Given the description of an element on the screen output the (x, y) to click on. 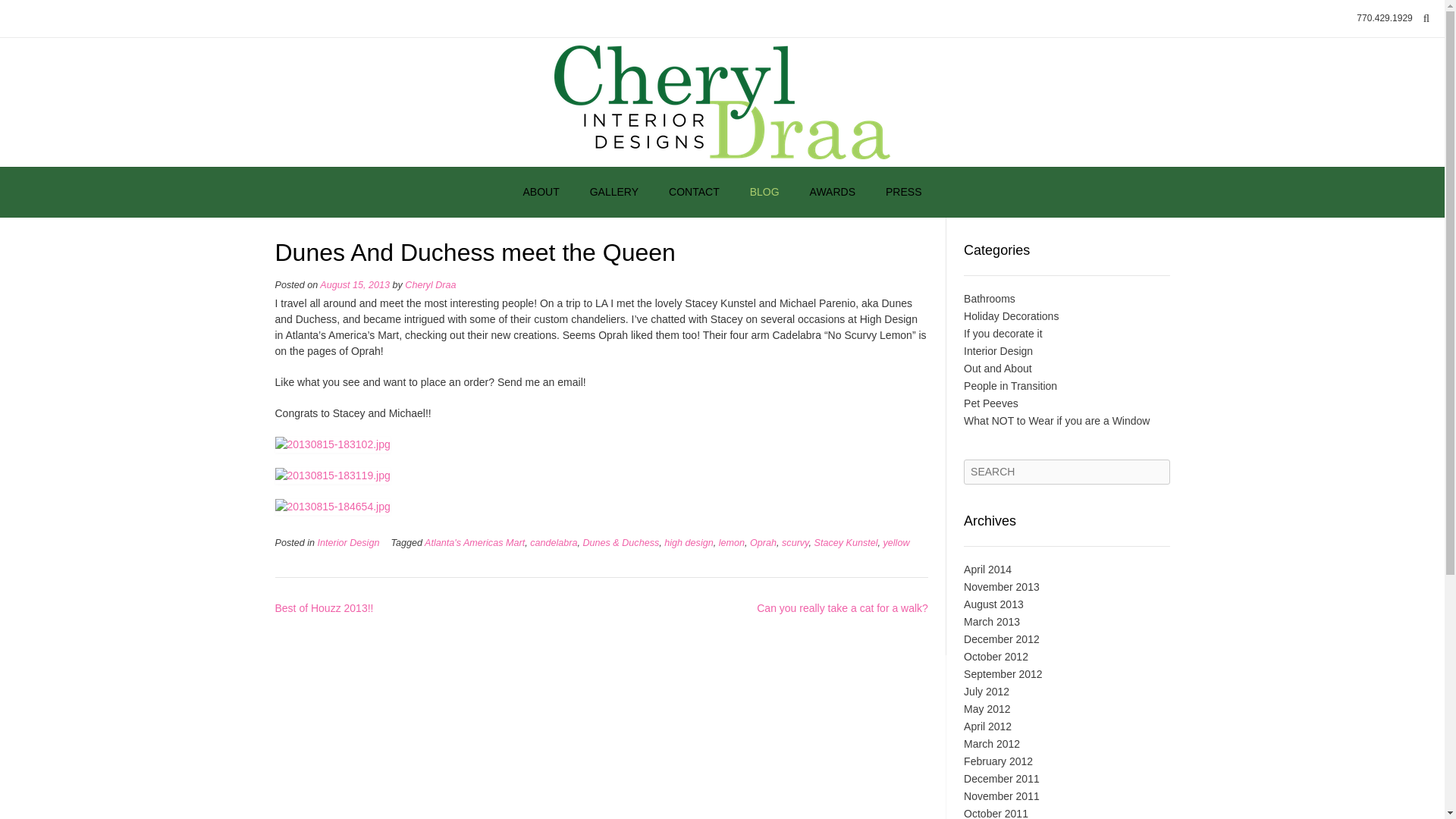
August 15, 2013 (355, 285)
November 2013 (1001, 586)
August 2013 (993, 604)
December 2012 (1001, 639)
March 2013 (991, 621)
PRESS (903, 192)
Interior Design (997, 350)
Stacey Kunstel (845, 542)
Cheryl Draa (721, 101)
Best of Houzz 2013!! (323, 607)
Pet Peeves (990, 403)
lemon (731, 542)
Can you really take a cat for a walk? (842, 607)
Oprah (762, 542)
